Given the description of an element on the screen output the (x, y) to click on. 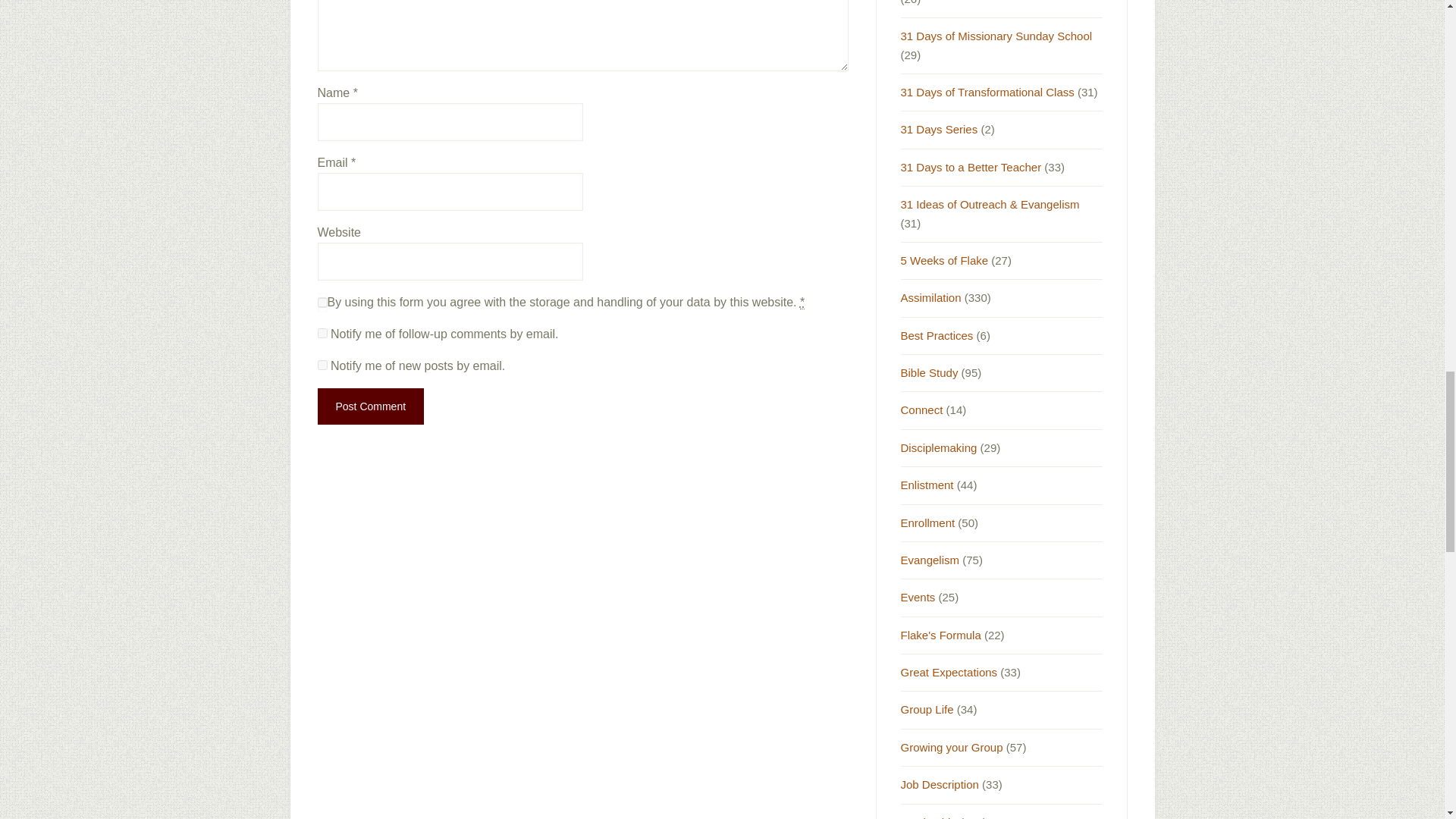
subscribe (321, 365)
31 Days of Transformational Class (987, 91)
31 Days of Missionary Sunday School (997, 35)
31 Days to a Better Teacher (971, 166)
Post Comment (370, 406)
subscribe (321, 333)
31 Days Series (939, 128)
Post Comment (370, 406)
